Given the description of an element on the screen output the (x, y) to click on. 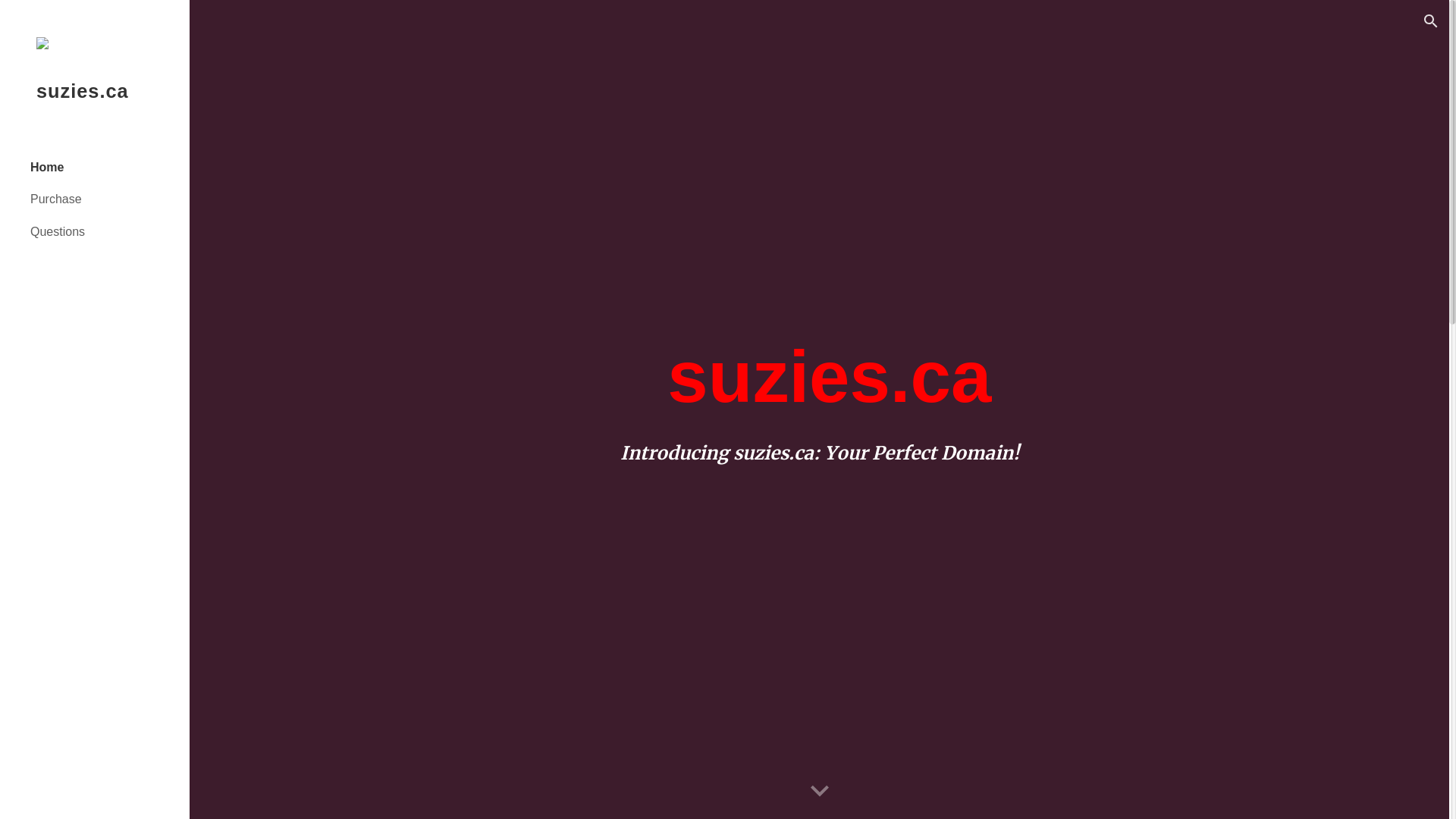
Purchase Element type: text (103, 199)
Home Element type: text (103, 166)
suzies.ca Element type: text (94, 109)
Questions Element type: text (103, 231)
